Given the description of an element on the screen output the (x, y) to click on. 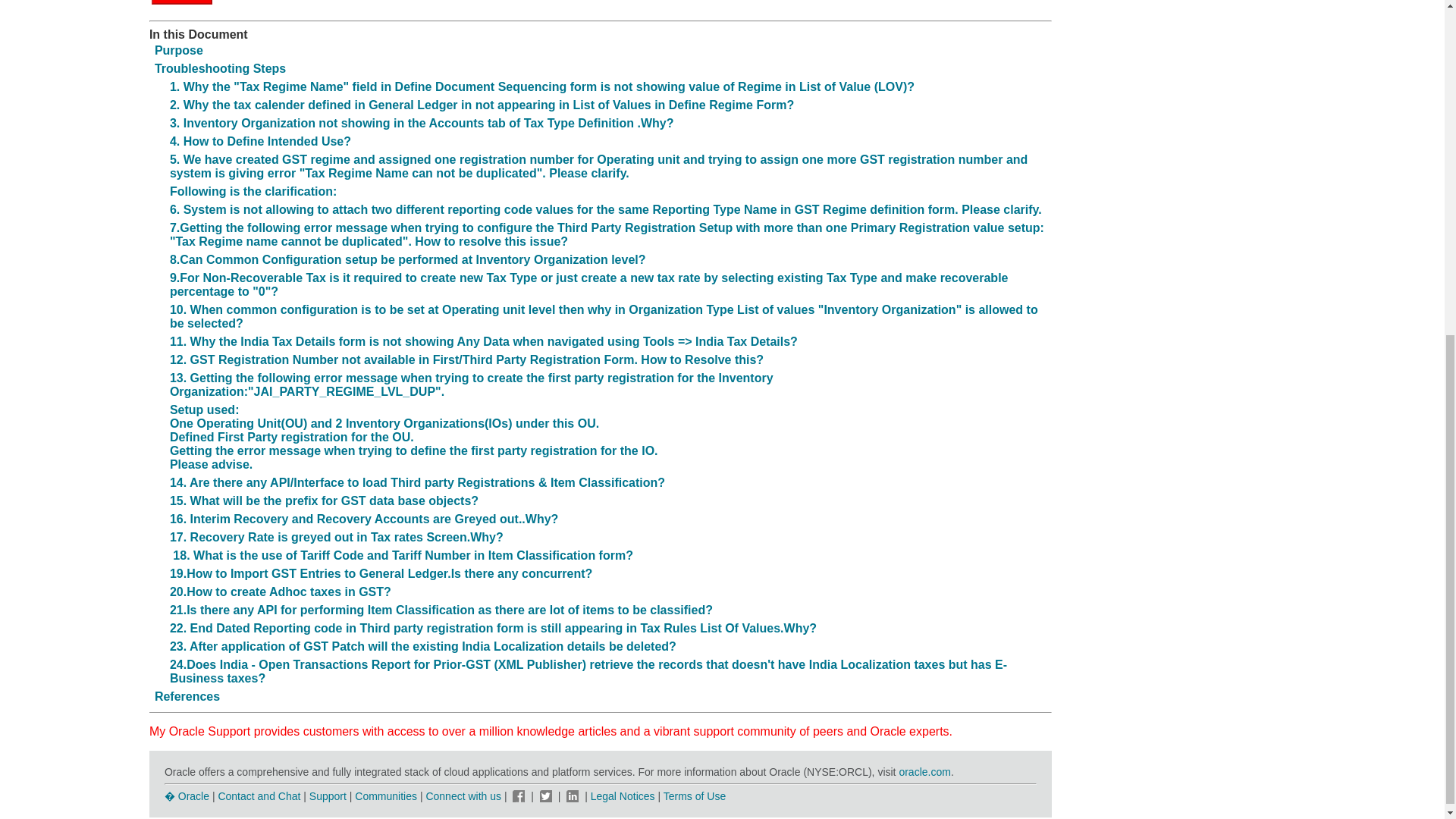
Contact and Chat (257, 796)
4. How to Define Intended Use? (260, 141)
oracle.com (924, 771)
20.How to create Adhoc taxes in GST? (280, 591)
Purpose (178, 50)
Following is the clarification: (253, 191)
17. Recovery Rate is greyed out in Tax rates Screen.Why? (336, 536)
Troubleshooting Steps (219, 68)
